Given the description of an element on the screen output the (x, y) to click on. 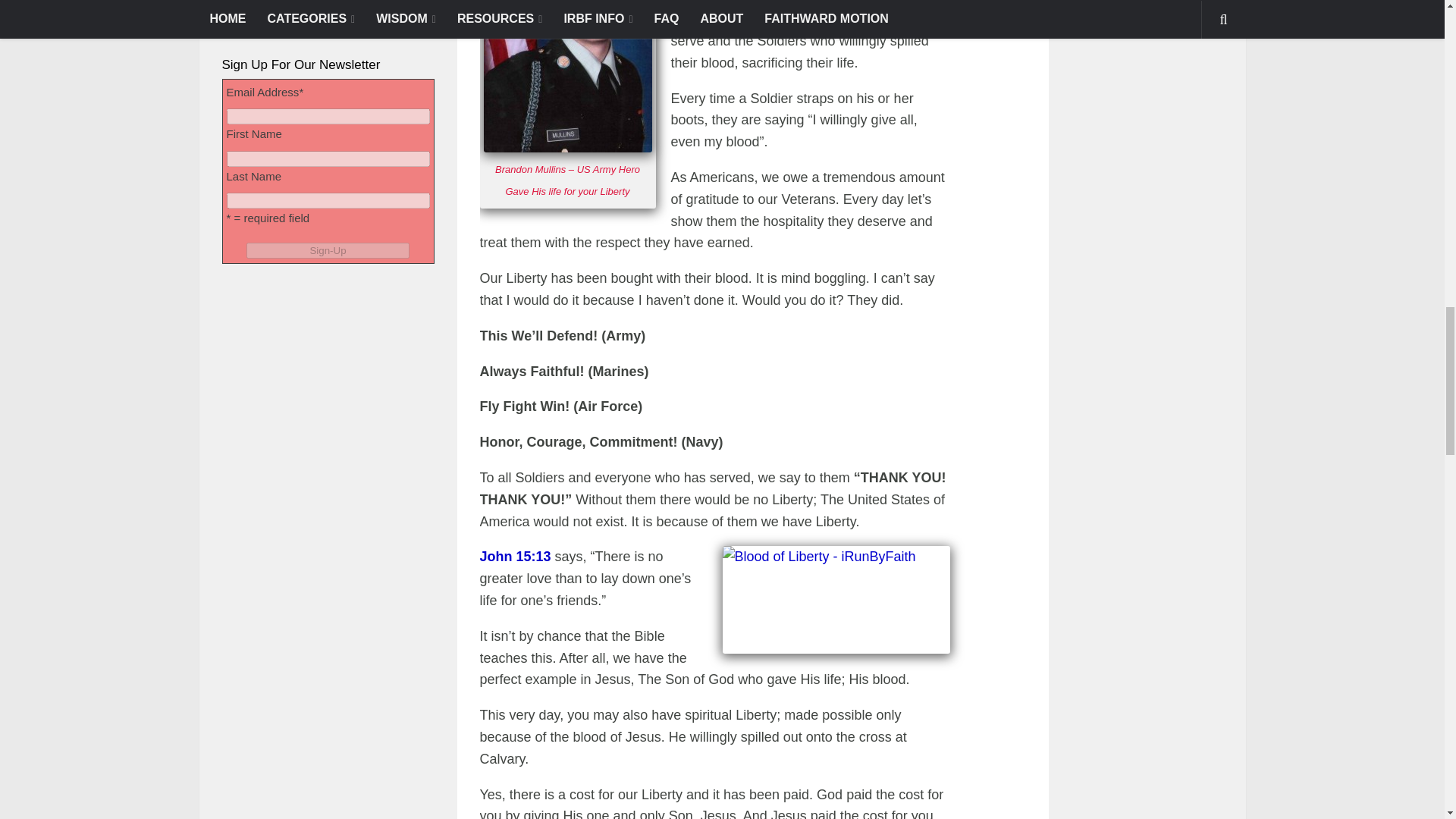
Sign-Up (327, 250)
